Given the description of an element on the screen output the (x, y) to click on. 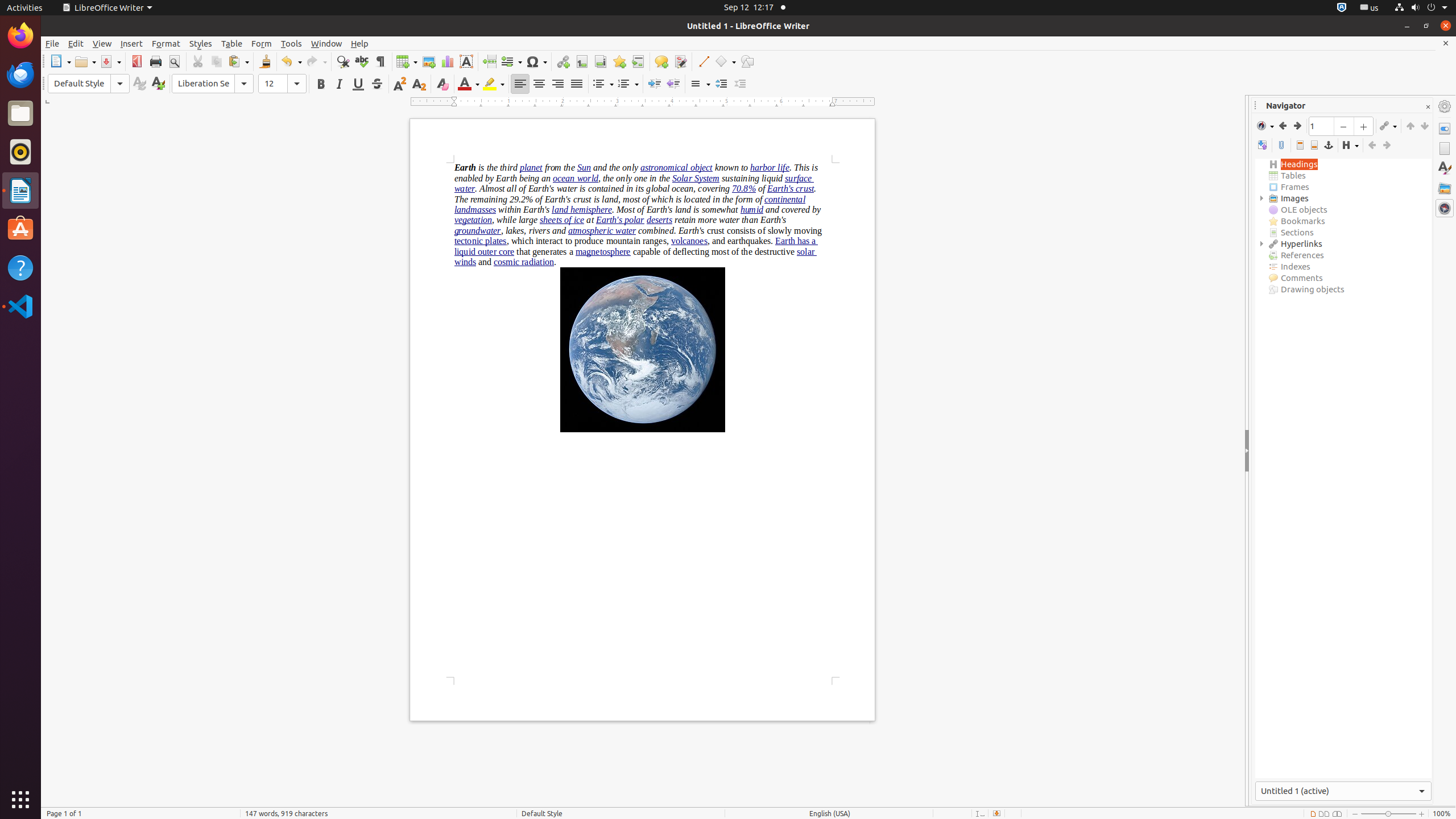
Soffice Element type: menu (85, 7)
Rhythmbox Element type: push-button (20, 151)
:1.72/StatusNotifierItem Element type: menu (1341, 7)
Firefox Web Browser Element type: push-button (20, 35)
Files Element type: push-button (20, 113)
